Given the description of an element on the screen output the (x, y) to click on. 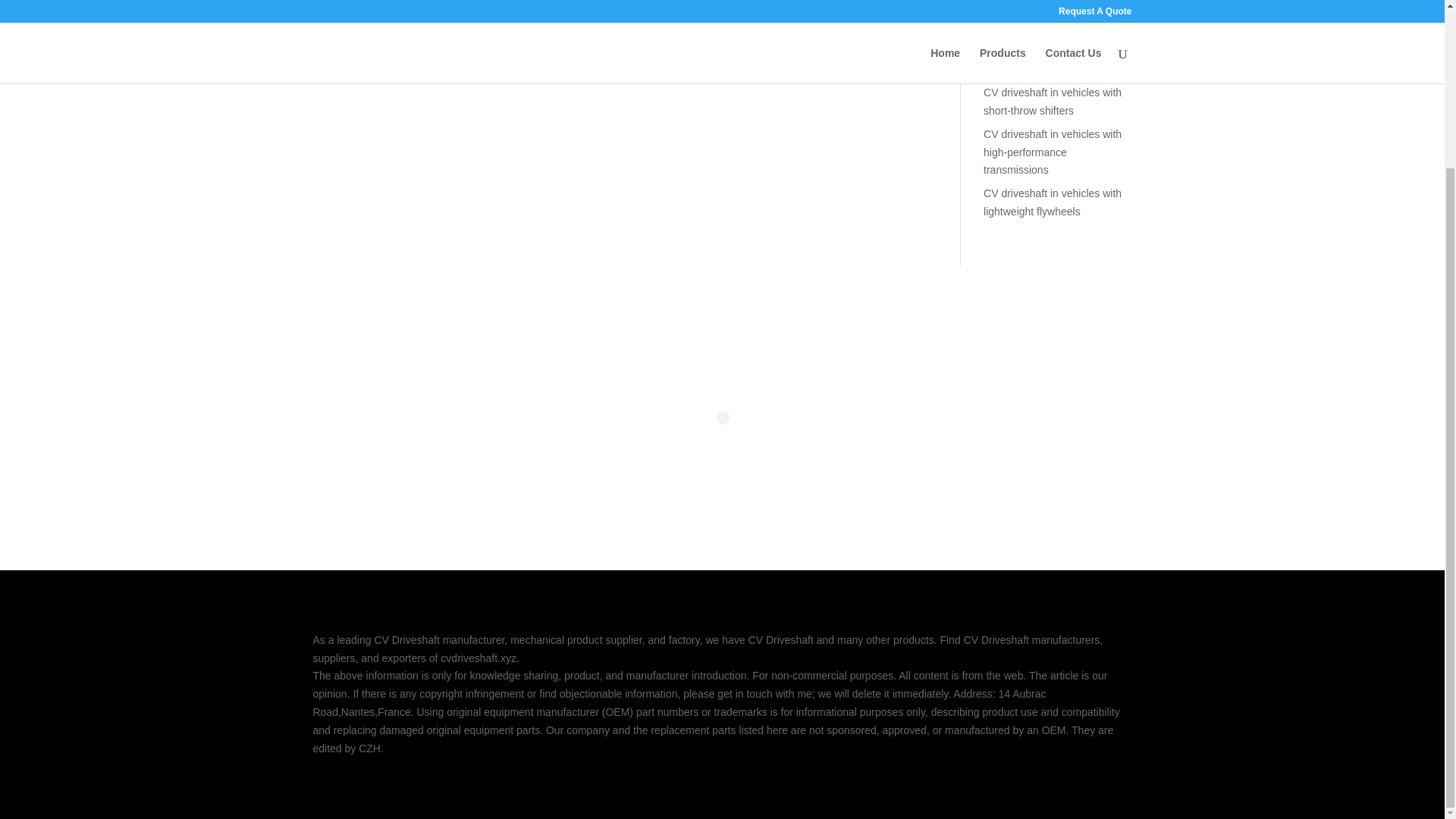
CV driveshaft in vehicles with paddle shifters (1052, 19)
CV driveshaft in vehicles with lightweight flywheels (1052, 202)
CV driveshaft in vehicles with short-throw shifters (1052, 101)
CV driveshaft in vehicles with automatic gearboxes (1052, 60)
